Given the description of an element on the screen output the (x, y) to click on. 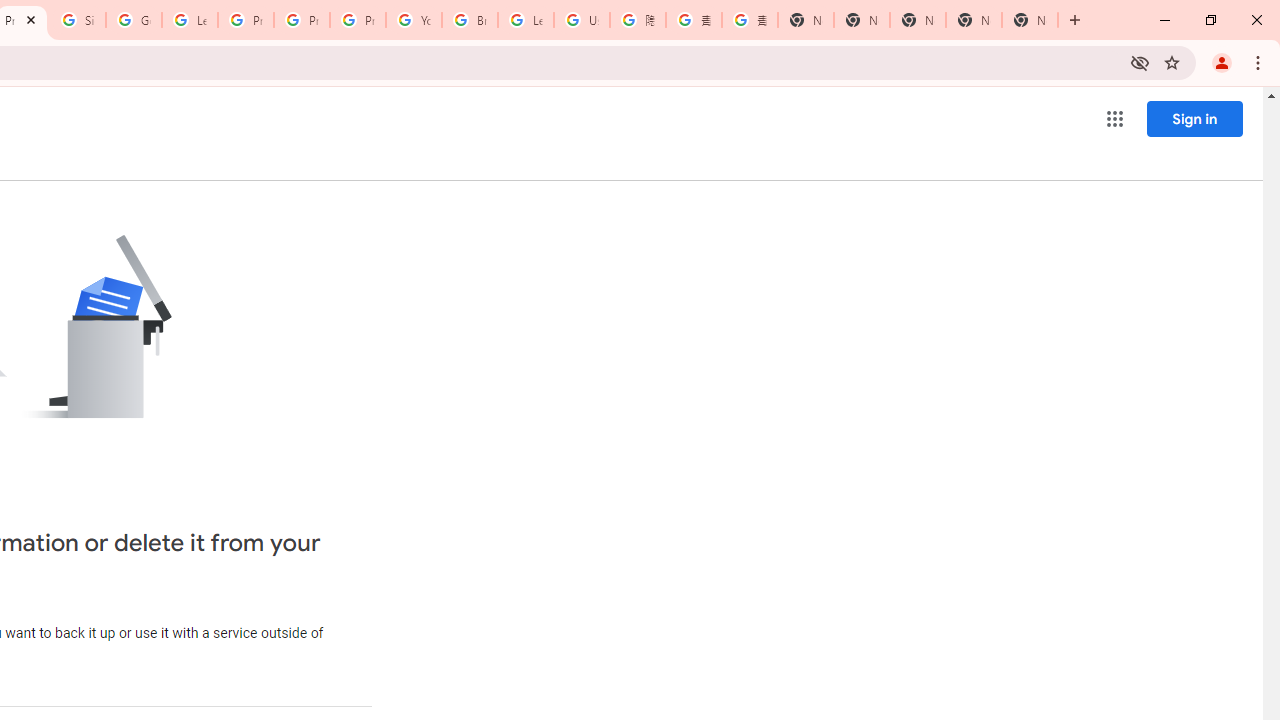
YouTube (413, 20)
Privacy Help Center - Policies Help (301, 20)
Privacy Help Center - Policies Help (245, 20)
New Tab (806, 20)
Sign in - Google Accounts (77, 20)
